Given the description of an element on the screen output the (x, y) to click on. 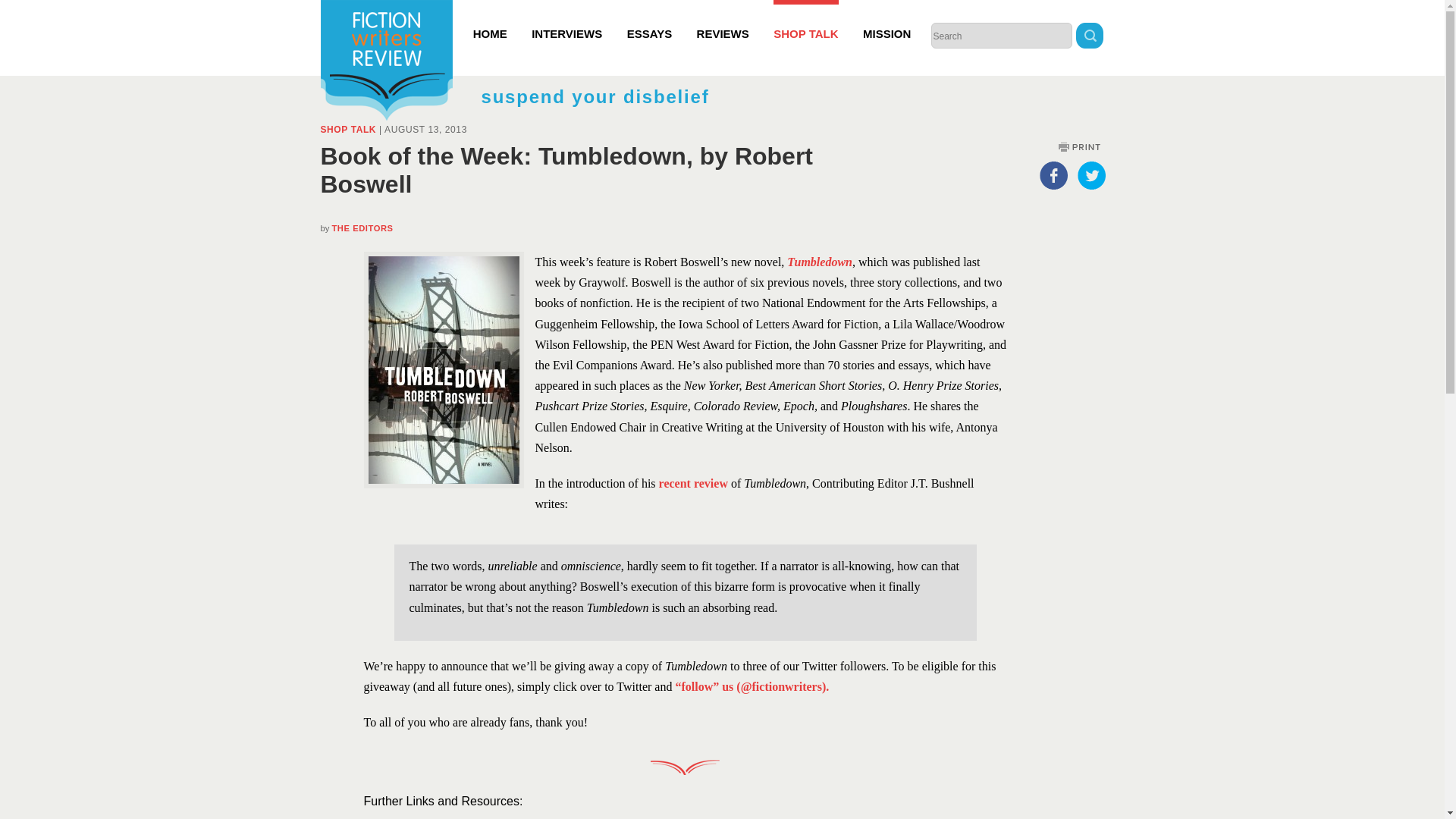
Share on Twitter (1091, 174)
review (521, 818)
SHOP TALK (347, 129)
REVIEWS (723, 20)
Share on Facebook (1053, 174)
ESSAYS (649, 20)
INTERVIEWS (566, 20)
SHOP TALK (805, 20)
Search (1088, 36)
THE EDITORS (362, 227)
recent review (693, 482)
MISSION (887, 20)
Tumbledown (819, 261)
Return home (385, 61)
